Given the description of an element on the screen output the (x, y) to click on. 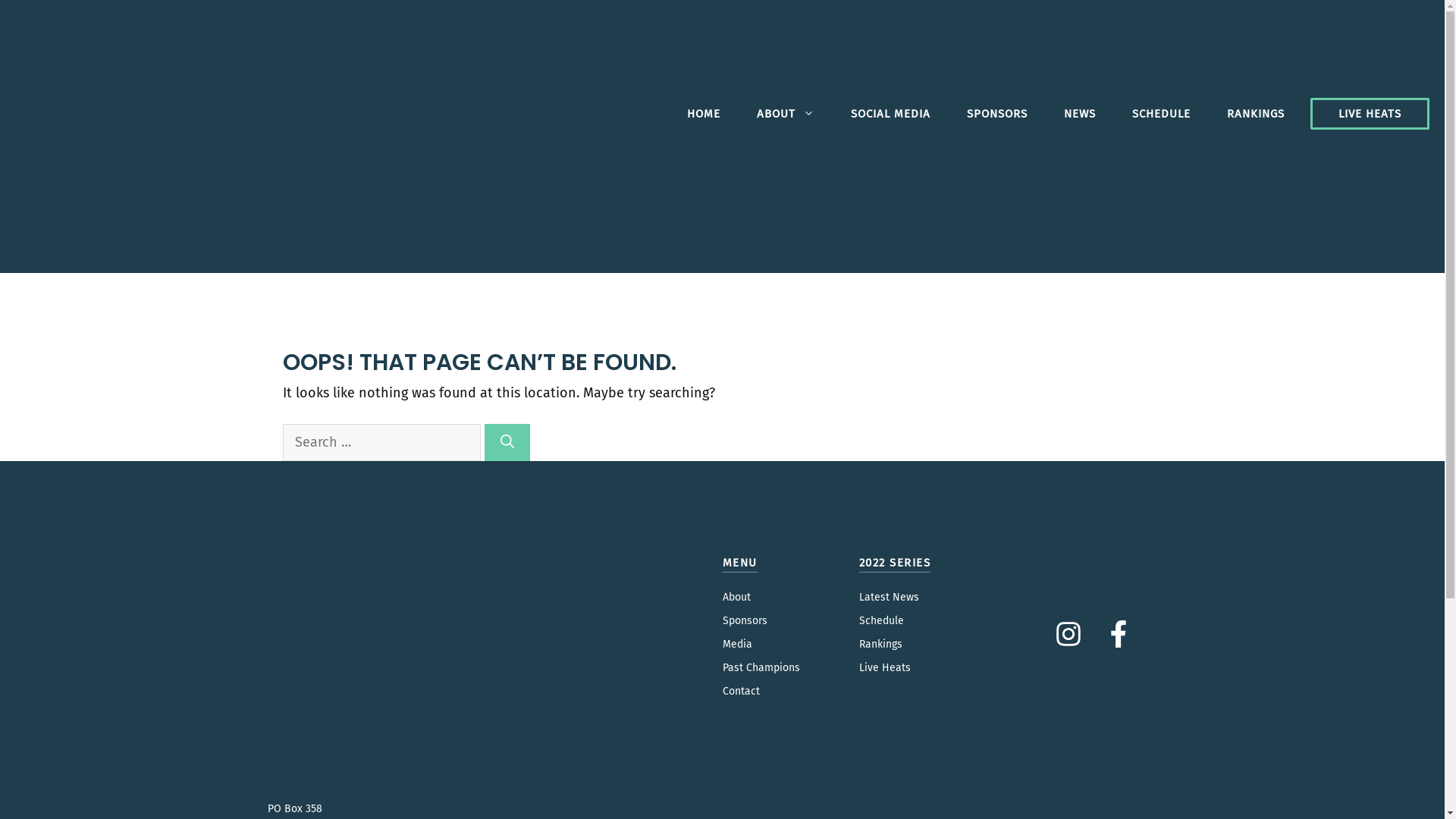
Live Heats Element type: text (884, 667)
Search for: Element type: hover (381, 442)
HOME Element type: text (703, 113)
Media Element type: text (736, 643)
Rankings Element type: text (879, 643)
ABOUT Element type: text (785, 113)
Latest News Element type: text (888, 596)
Past Champions Element type: text (760, 667)
RANKINGS Element type: text (1255, 113)
LIVE HEATS Element type: text (1369, 113)
Schedule Element type: text (880, 620)
Contact Element type: text (740, 690)
SCHEDULE Element type: text (1160, 113)
NEWS Element type: text (1079, 113)
Sponsors Element type: text (743, 620)
SOCIAL MEDIA Element type: text (890, 113)
About Element type: text (735, 596)
SPONSORS Element type: text (996, 113)
